Given the description of an element on the screen output the (x, y) to click on. 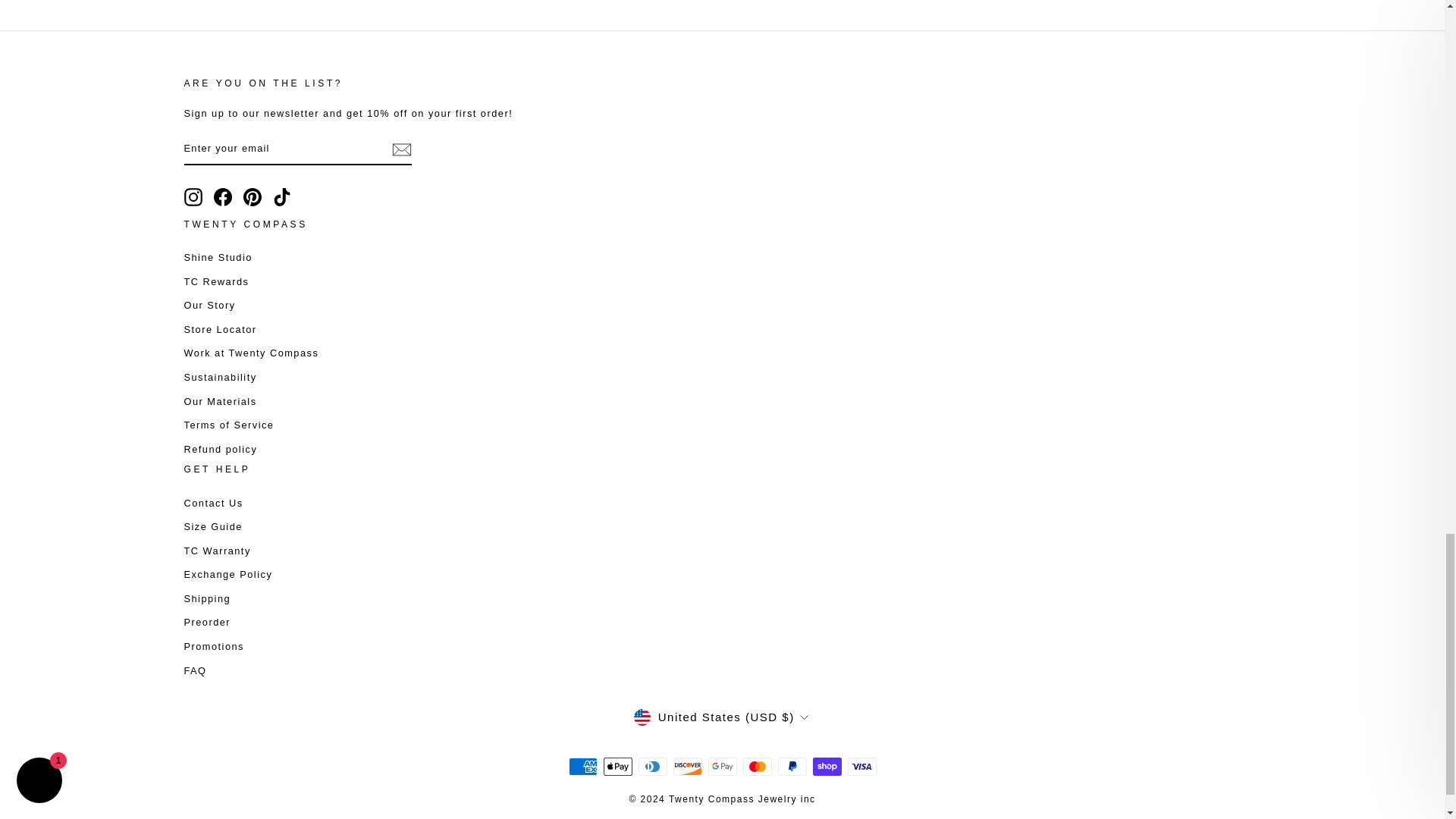
Twenty Compass on Facebook (222, 197)
Twenty Compass on Instagram (192, 197)
American Express (582, 766)
Twenty Compass on Pinterest (251, 197)
Twenty Compass on TikTok (282, 197)
